Given the description of an element on the screen output the (x, y) to click on. 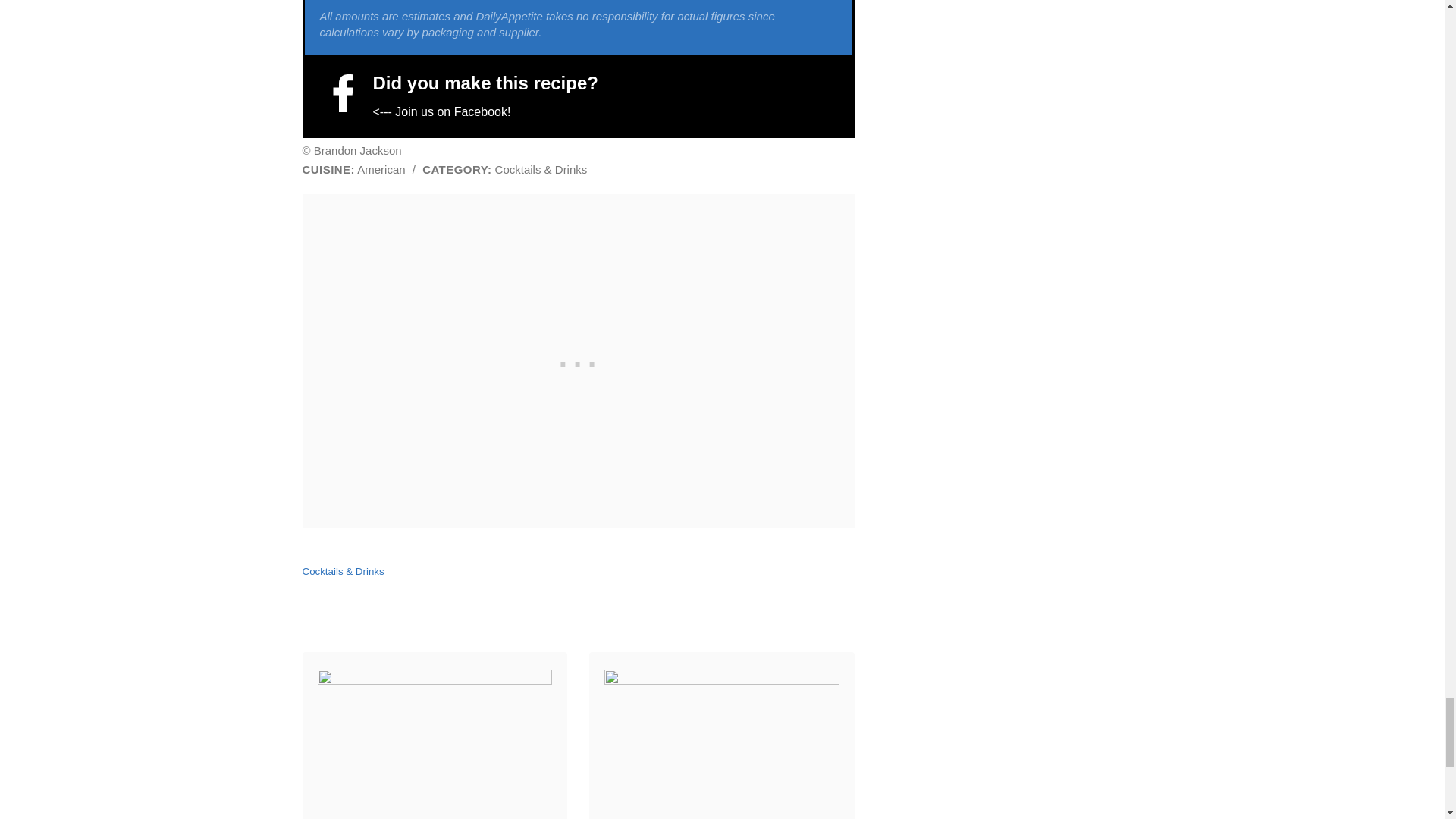
Pull Apart Sloppy Joe Sliders (434, 816)
Crock Pot White Beans and Smoked Sausage (721, 816)
